Given the description of an element on the screen output the (x, y) to click on. 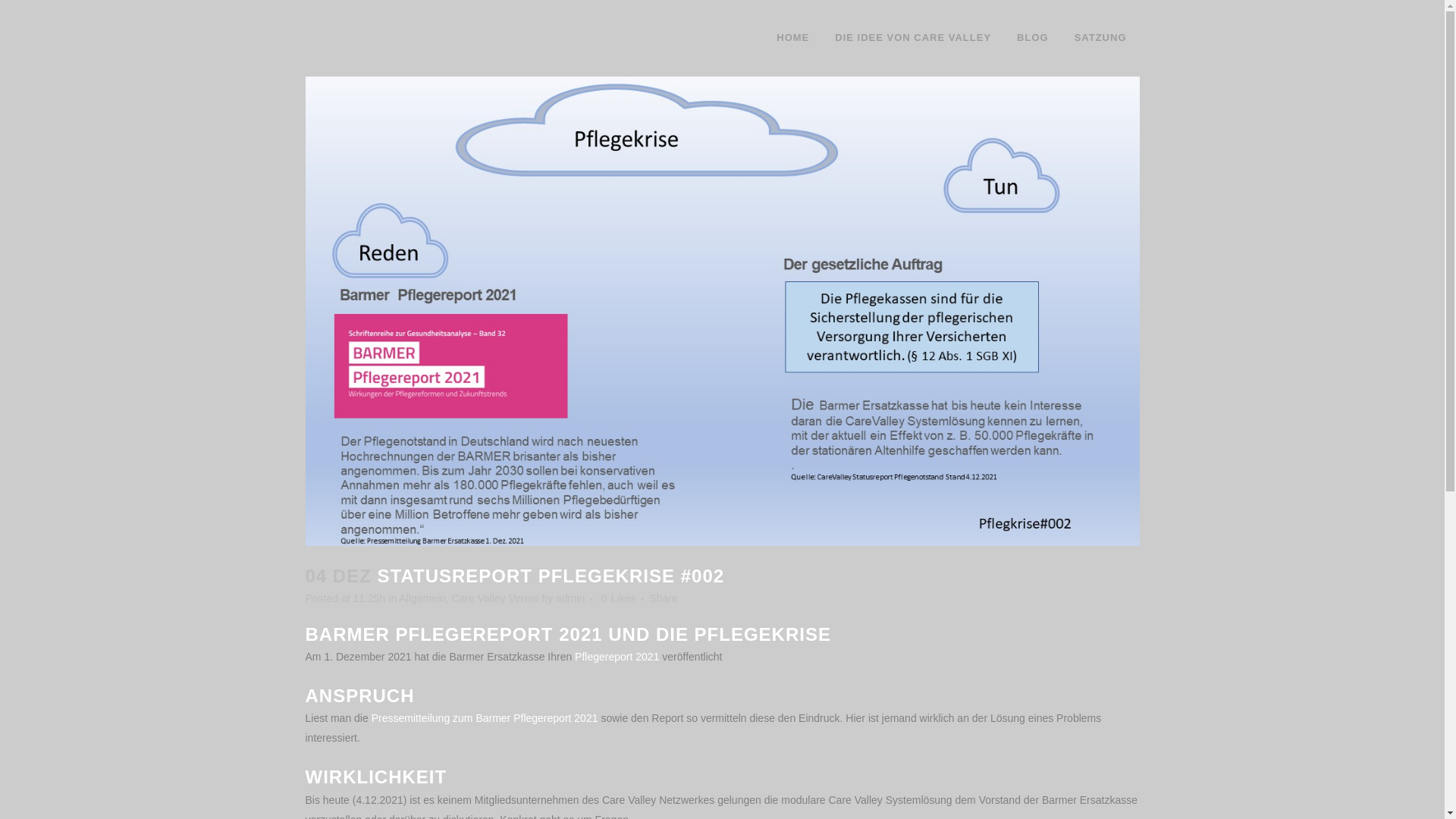
admin Element type: text (569, 598)
Care Valley Verein Element type: text (495, 598)
HOME Element type: text (792, 37)
0 Likes Element type: text (618, 598)
DIE IDEE VON CARE VALLEY Element type: text (913, 37)
SATZUNG Element type: text (1100, 37)
BLOG Element type: text (1032, 37)
Pressemitteilung zum Barmer Pflegereport 2021 Element type: text (486, 718)
Share Element type: text (663, 598)
Allgemein Element type: text (421, 598)
Pflegereport 2021 Element type: text (616, 656)
